Given the description of an element on the screen output the (x, y) to click on. 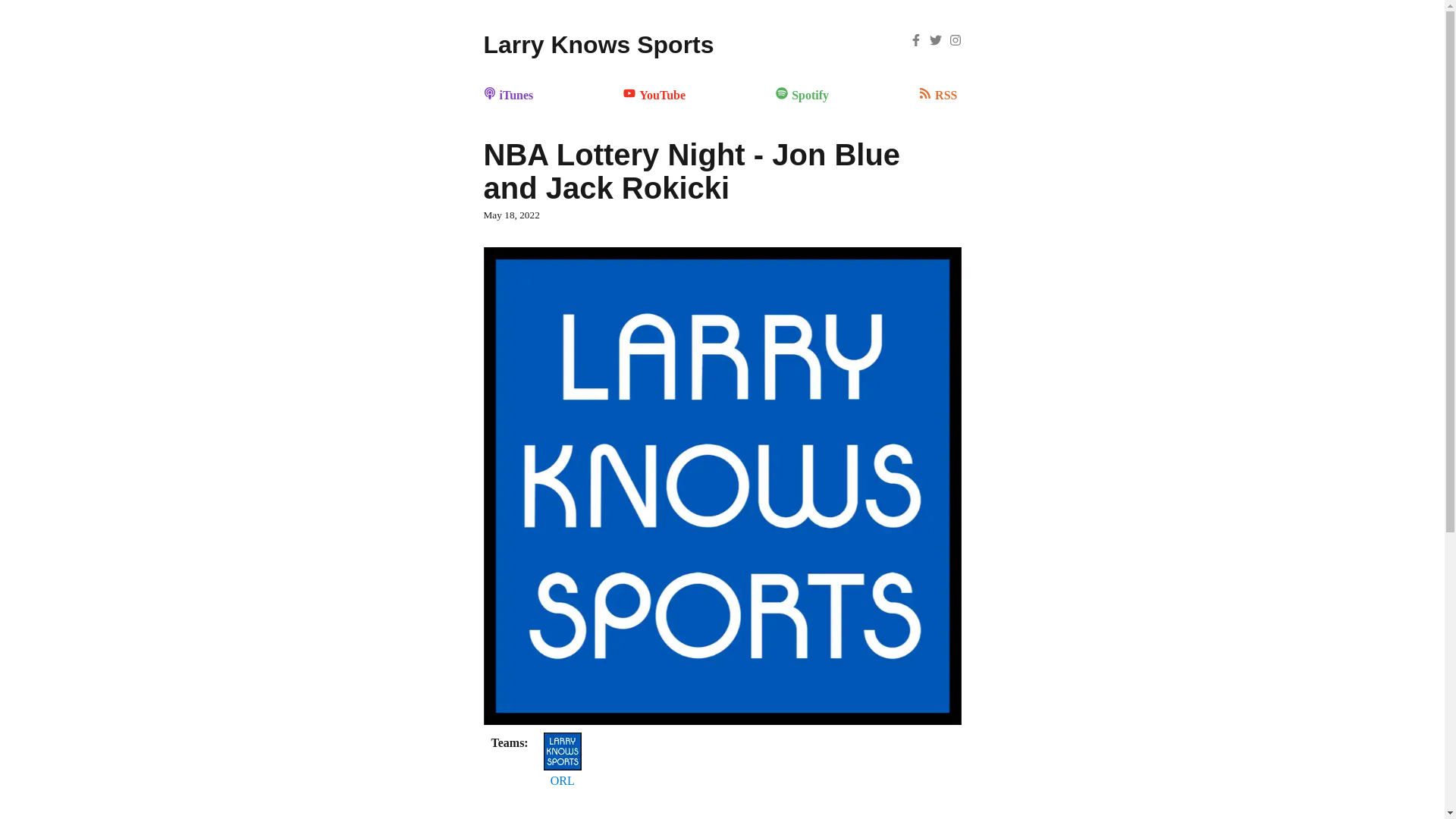
Orlando Magic (561, 742)
ORL (561, 780)
Spotify (804, 94)
Orlando Magic (561, 780)
iTunes (510, 94)
Larry Knows Sports (598, 44)
RSS (939, 94)
YouTube (655, 94)
